Given the description of an element on the screen output the (x, y) to click on. 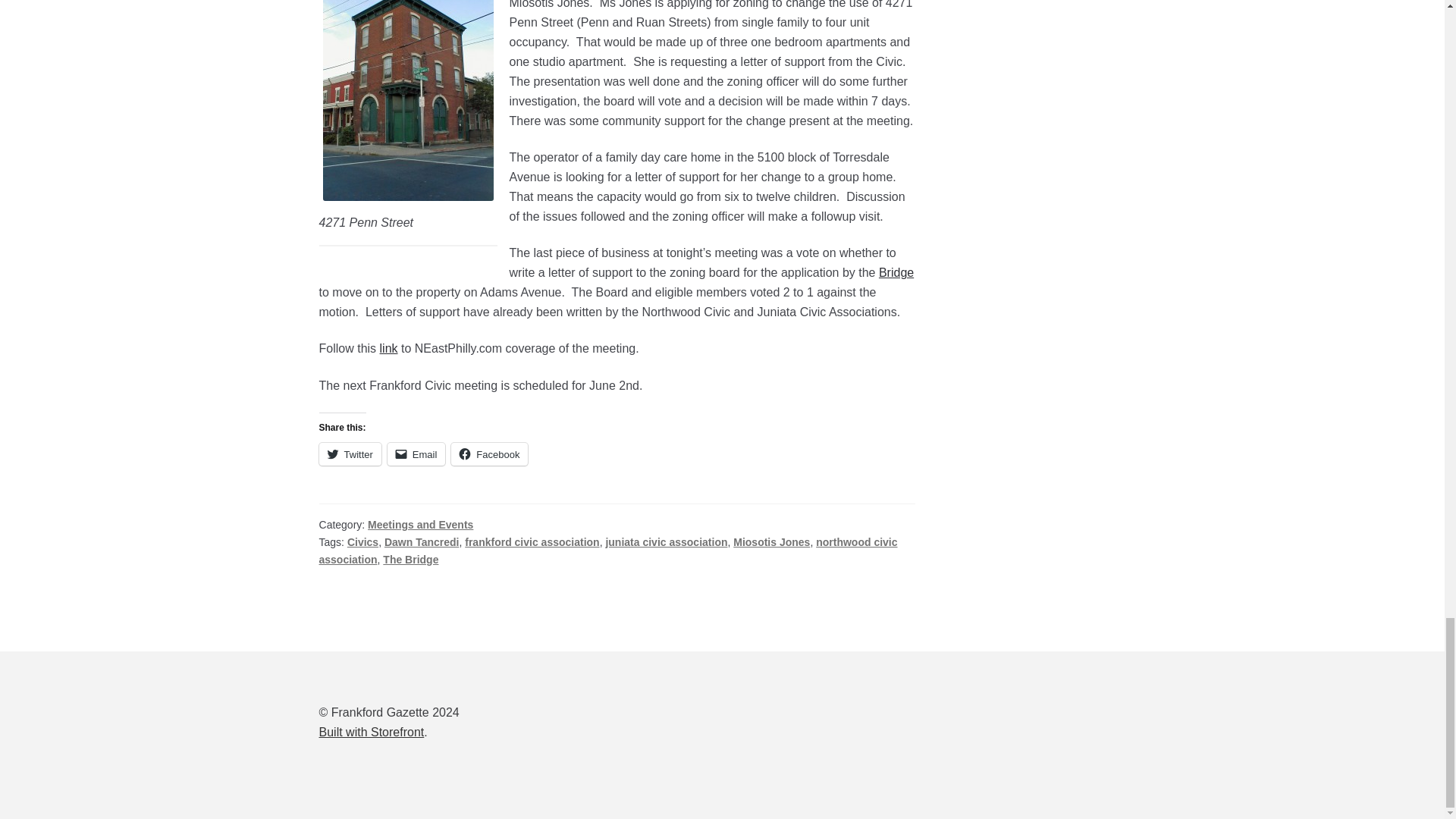
4271penn (408, 100)
Click to share on Facebook (489, 454)
Click to share on Twitter (349, 454)
Click to email a link to a friend (416, 454)
